Given the description of an element on the screen output the (x, y) to click on. 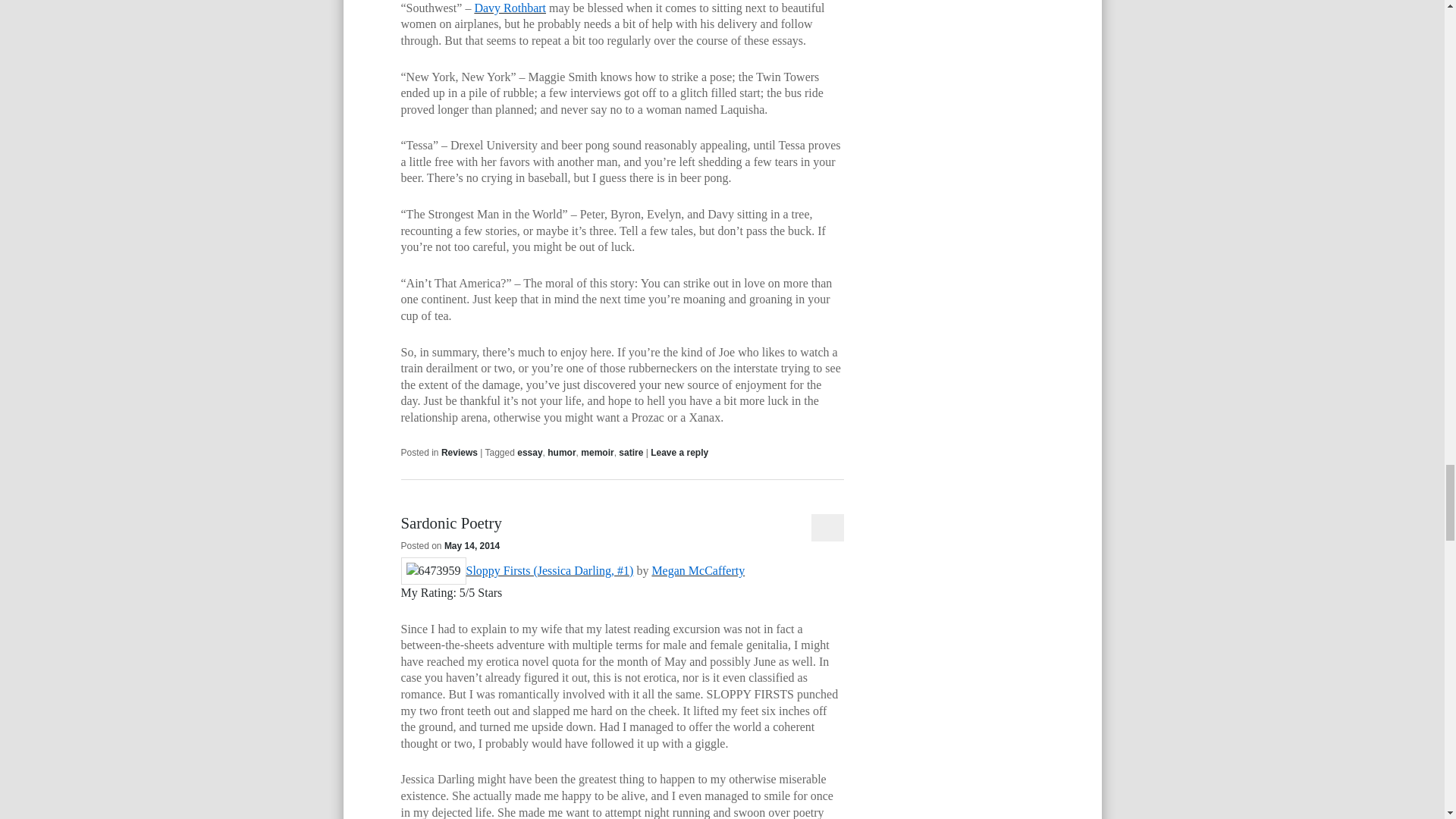
Davy Rothbart (510, 7)
